Given the description of an element on the screen output the (x, y) to click on. 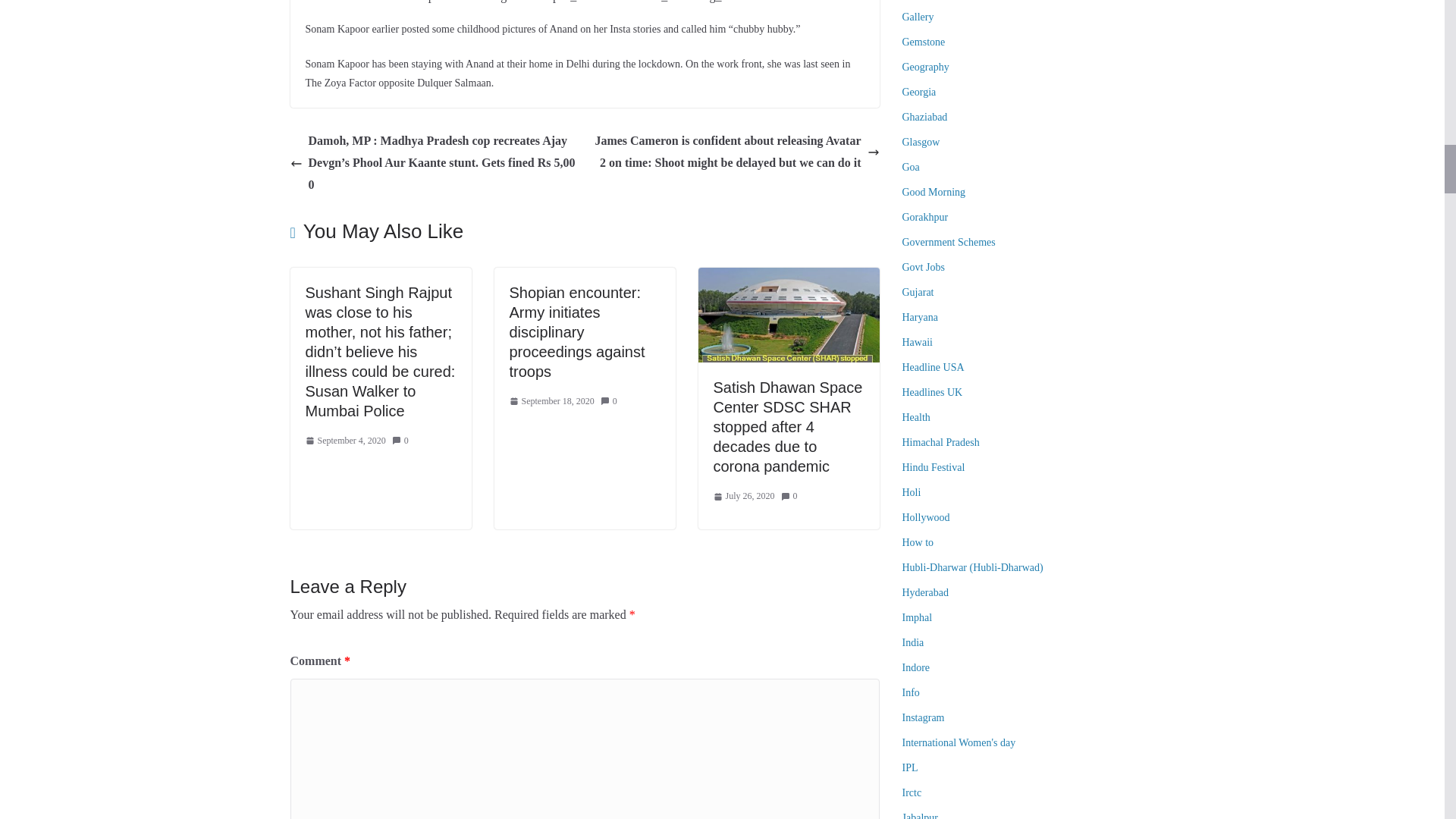
7:27 am (344, 441)
September 18, 2020 (551, 401)
September 4, 2020 (344, 441)
6:09 pm (551, 401)
